Given the description of an element on the screen output the (x, y) to click on. 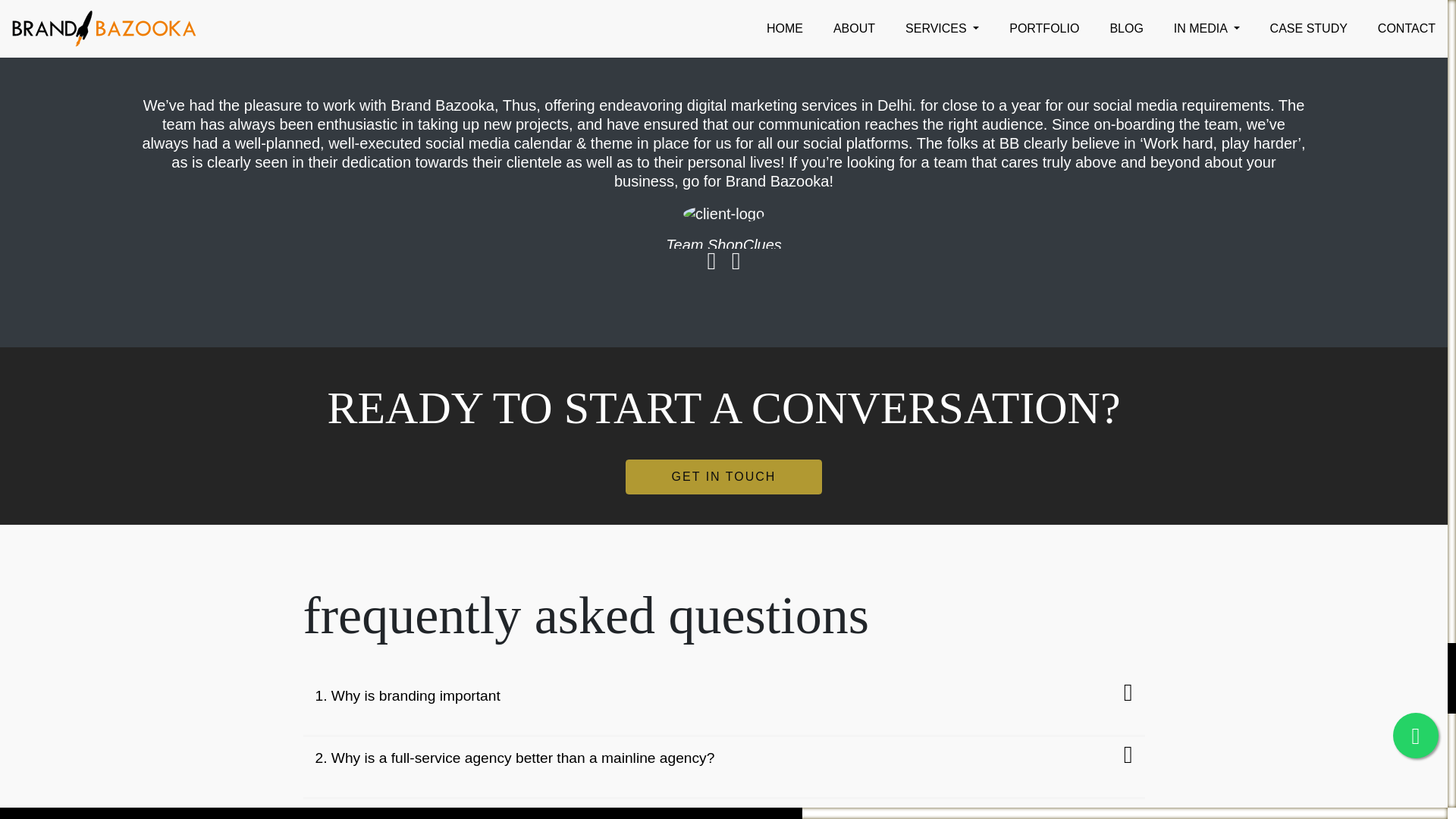
GET IN TOUCH (724, 476)
1. Why is branding important (723, 695)
GET IN TOUCH (724, 476)
